Given the description of an element on the screen output the (x, y) to click on. 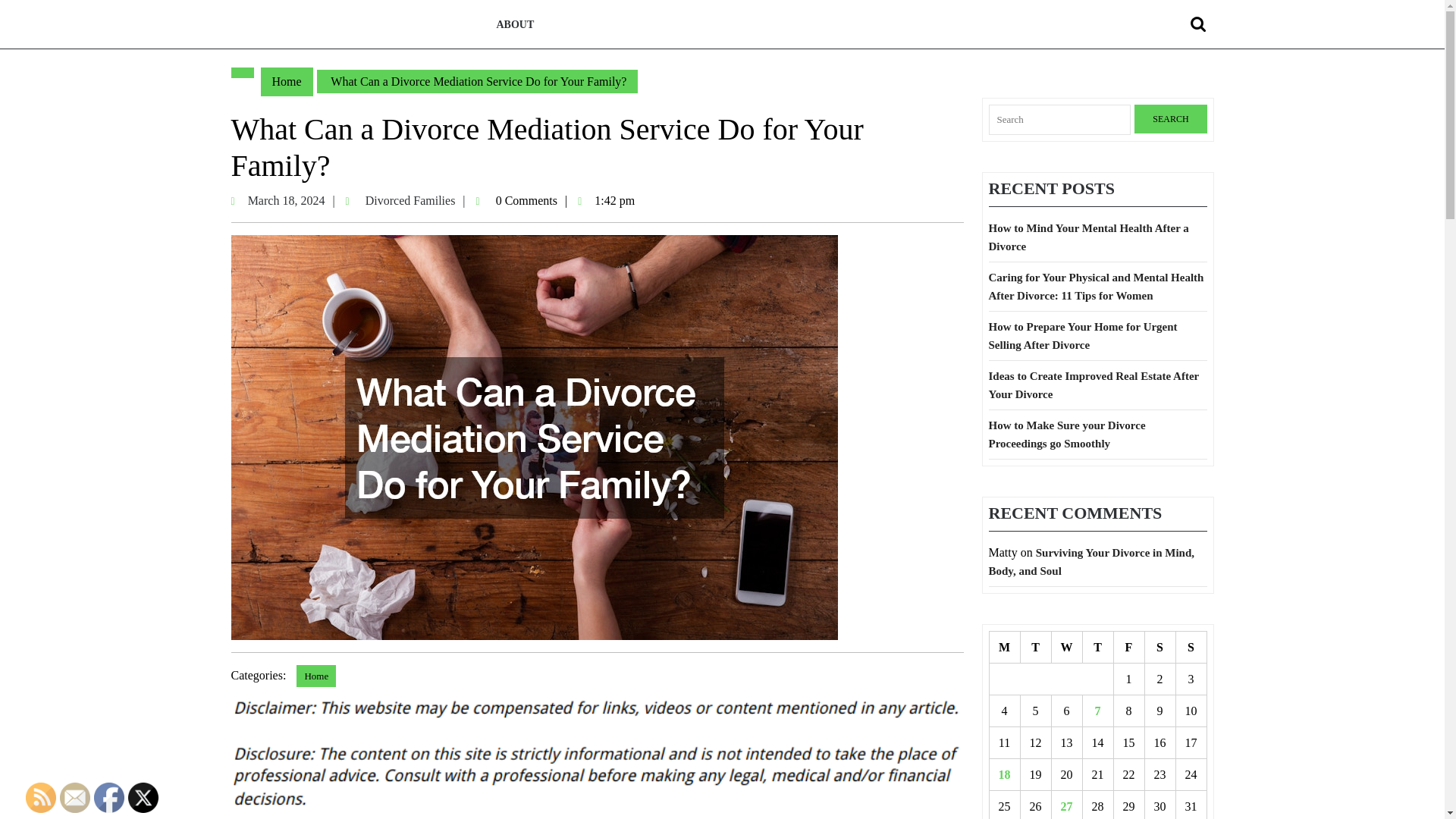
18 (1003, 774)
Friday (1128, 647)
Tuesday (293, 200)
Home (1035, 647)
Wednesday (286, 81)
Ideas to Create Improved Real Estate After Your Divorce (1066, 647)
Saturday (1093, 385)
Home (1160, 647)
Twitter (416, 200)
ABOUT (316, 676)
How to Mind Your Mental Health After a Divorce (143, 797)
RSS (514, 24)
Search (1088, 236)
